Given the description of an element on the screen output the (x, y) to click on. 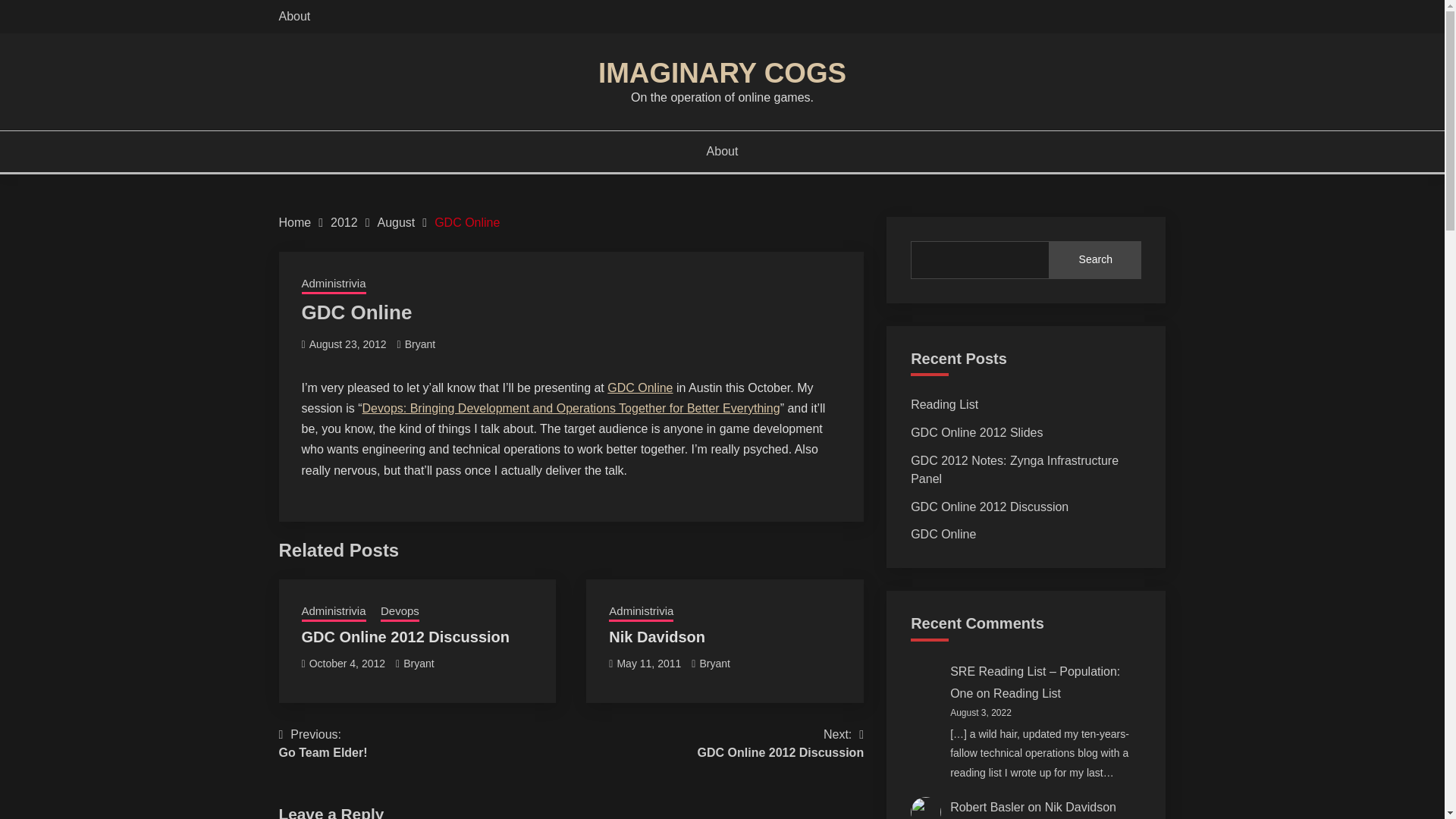
2012 (344, 222)
Home (295, 222)
Search (1095, 259)
Reading List (944, 404)
Devops (399, 612)
Nik Davidson (656, 636)
Bryant (419, 344)
GDC Online 2012 Discussion (323, 743)
Robert Basler (406, 636)
GDC 2012 Notes: Zynga Infrastructure Panel (987, 807)
GDC Online (1014, 469)
GDC Online (780, 743)
GDC Online 2012 Discussion (466, 222)
